Given the description of an element on the screen output the (x, y) to click on. 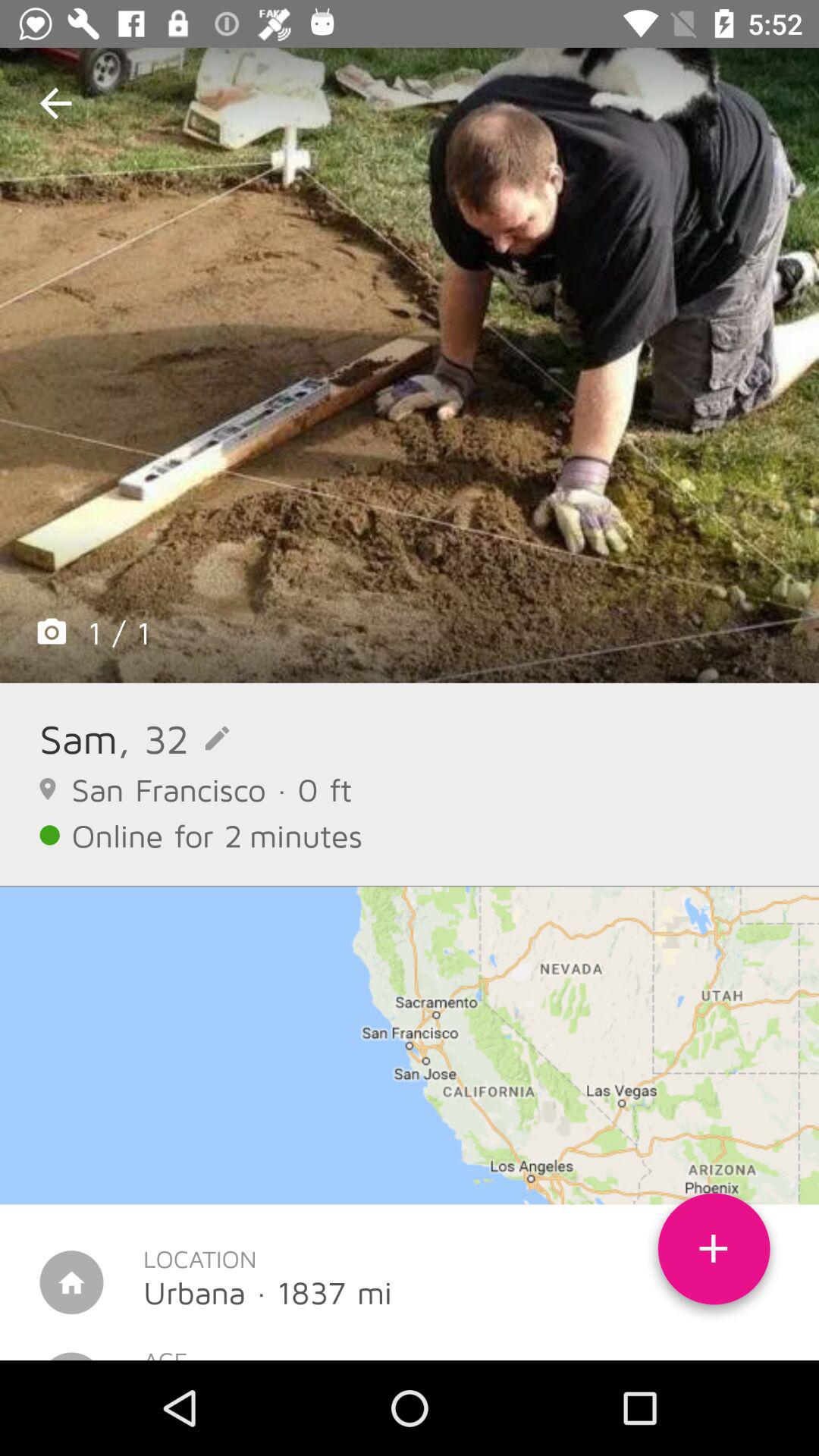
open icon next to , 32 (78, 738)
